Given the description of an element on the screen output the (x, y) to click on. 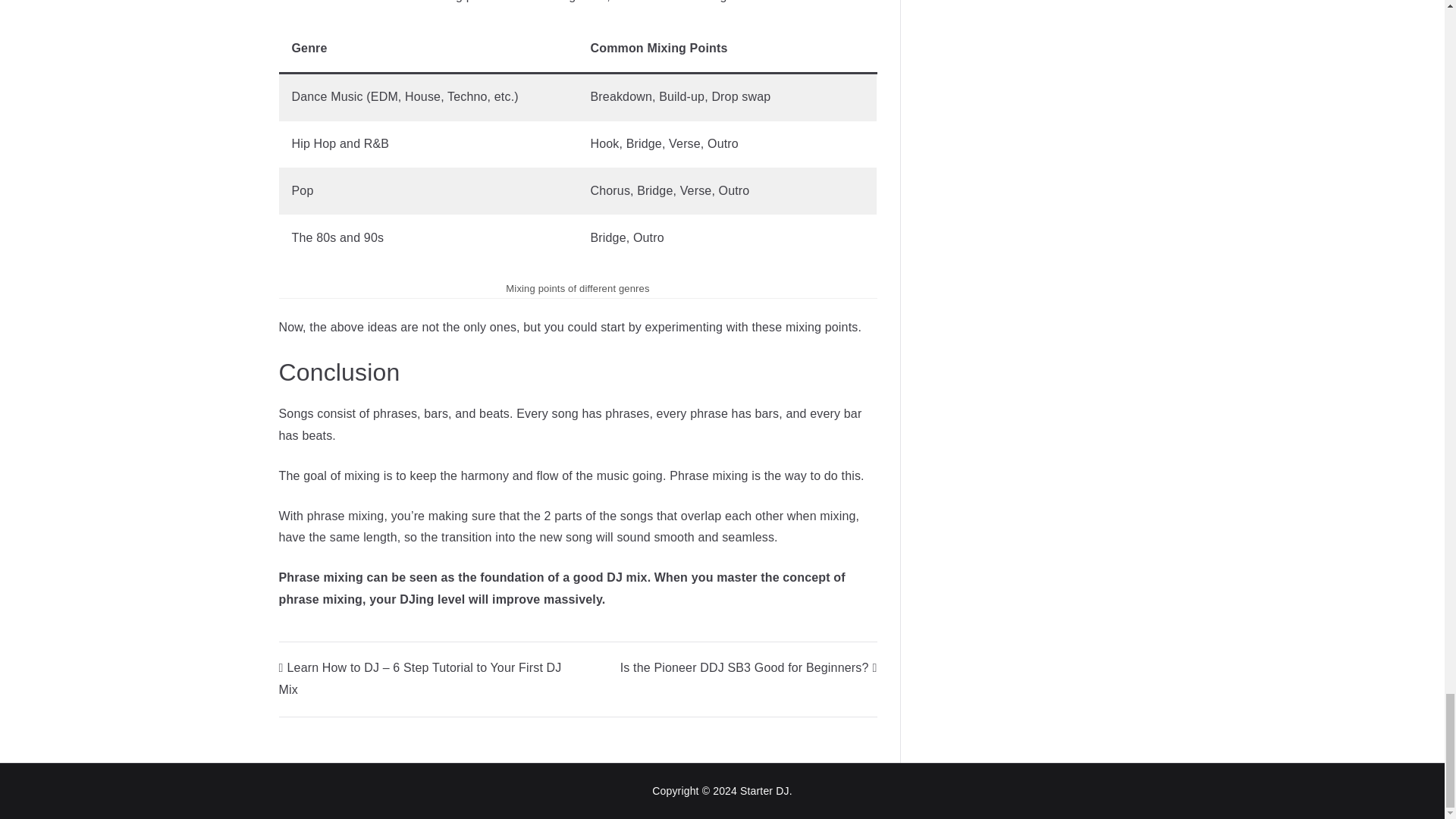
Starter DJ (764, 790)
